Given the description of an element on the screen output the (x, y) to click on. 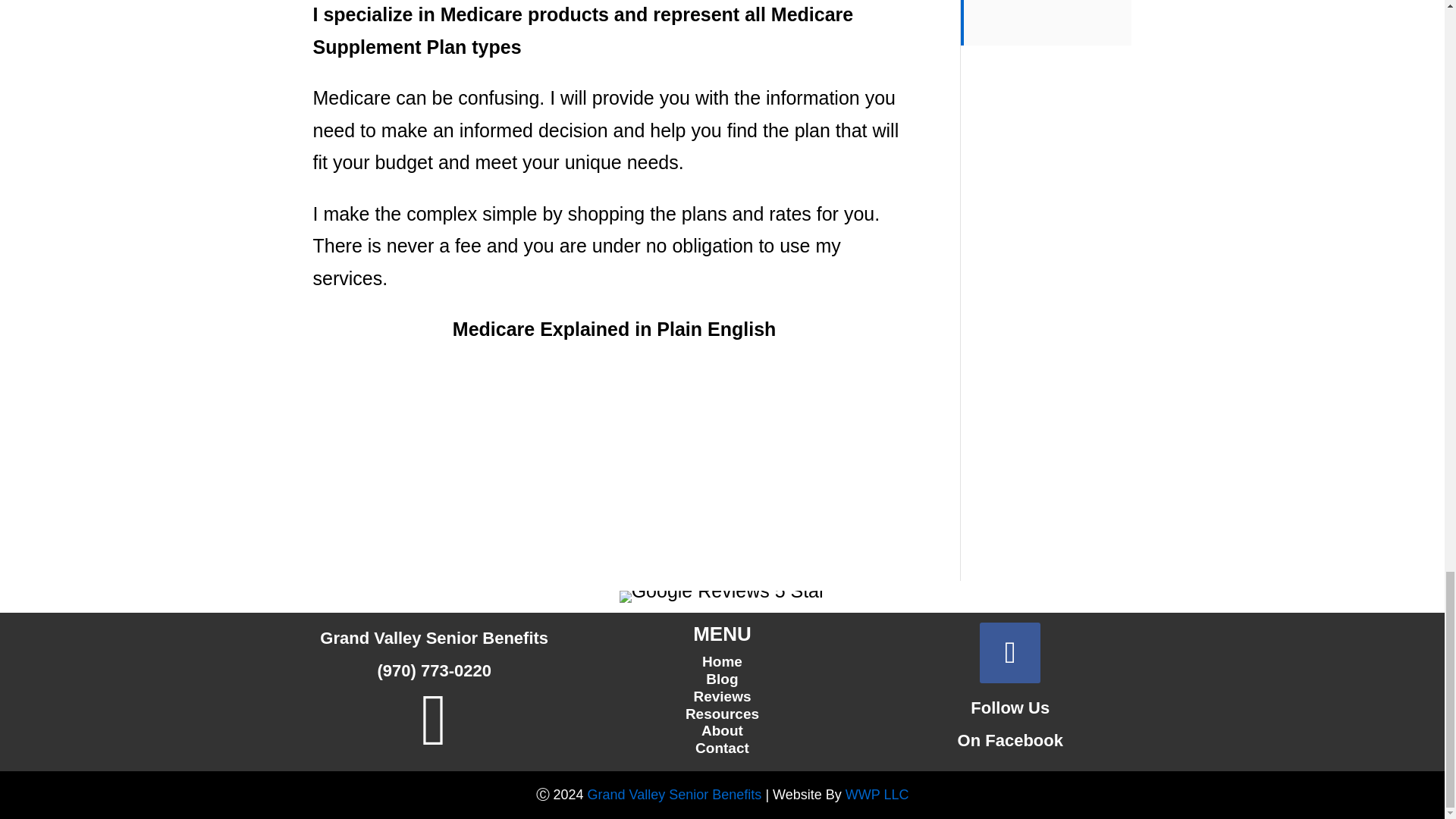
Medicare Insurance Representative (674, 794)
Follow on Facebook (1010, 652)
Google Reviews 5 Star (722, 596)
